Given the description of an element on the screen output the (x, y) to click on. 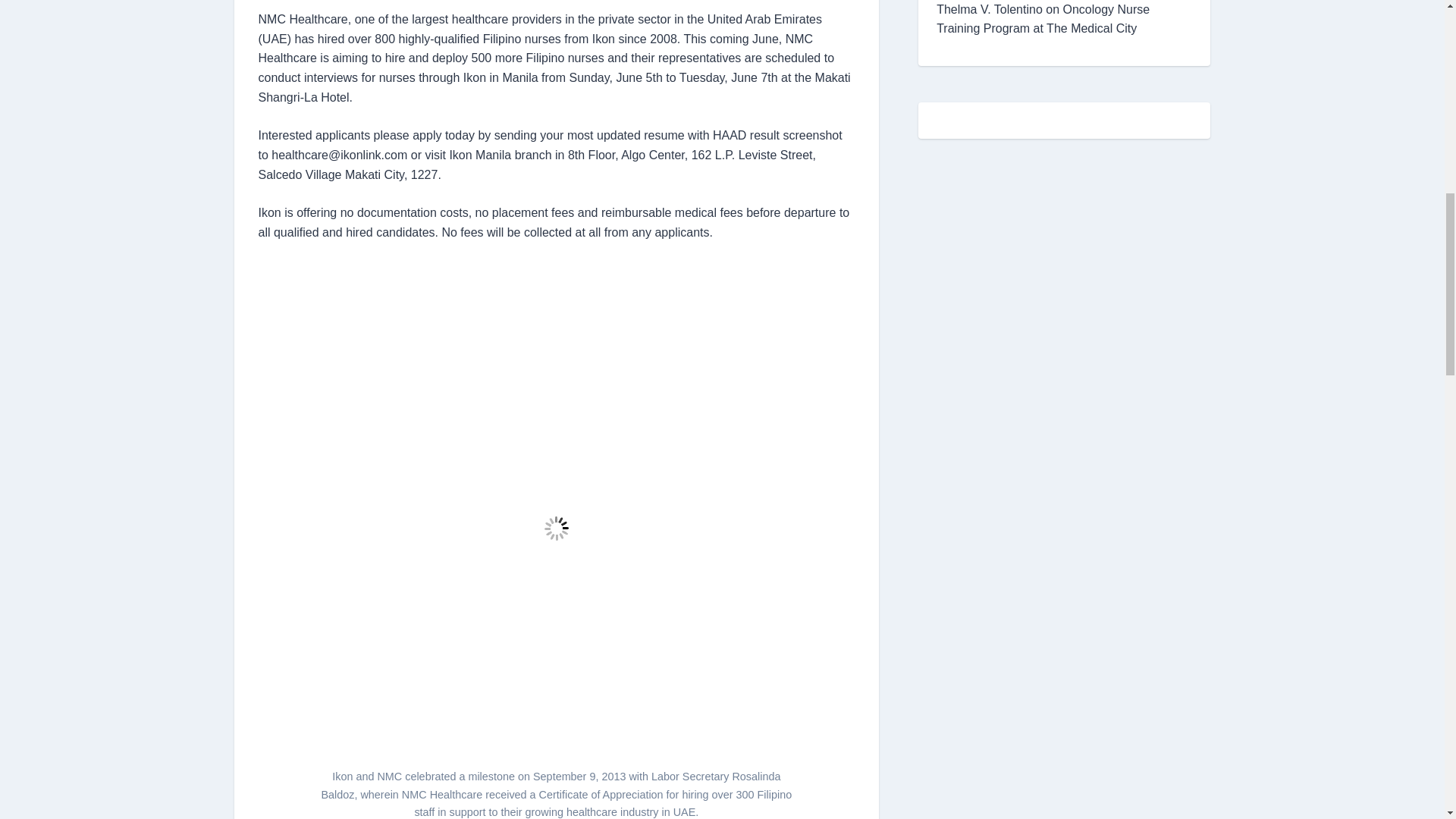
Thelma V. Tolentino (989, 9)
Oncology Nurse Training Program at The Medical City (1043, 19)
